Given the description of an element on the screen output the (x, y) to click on. 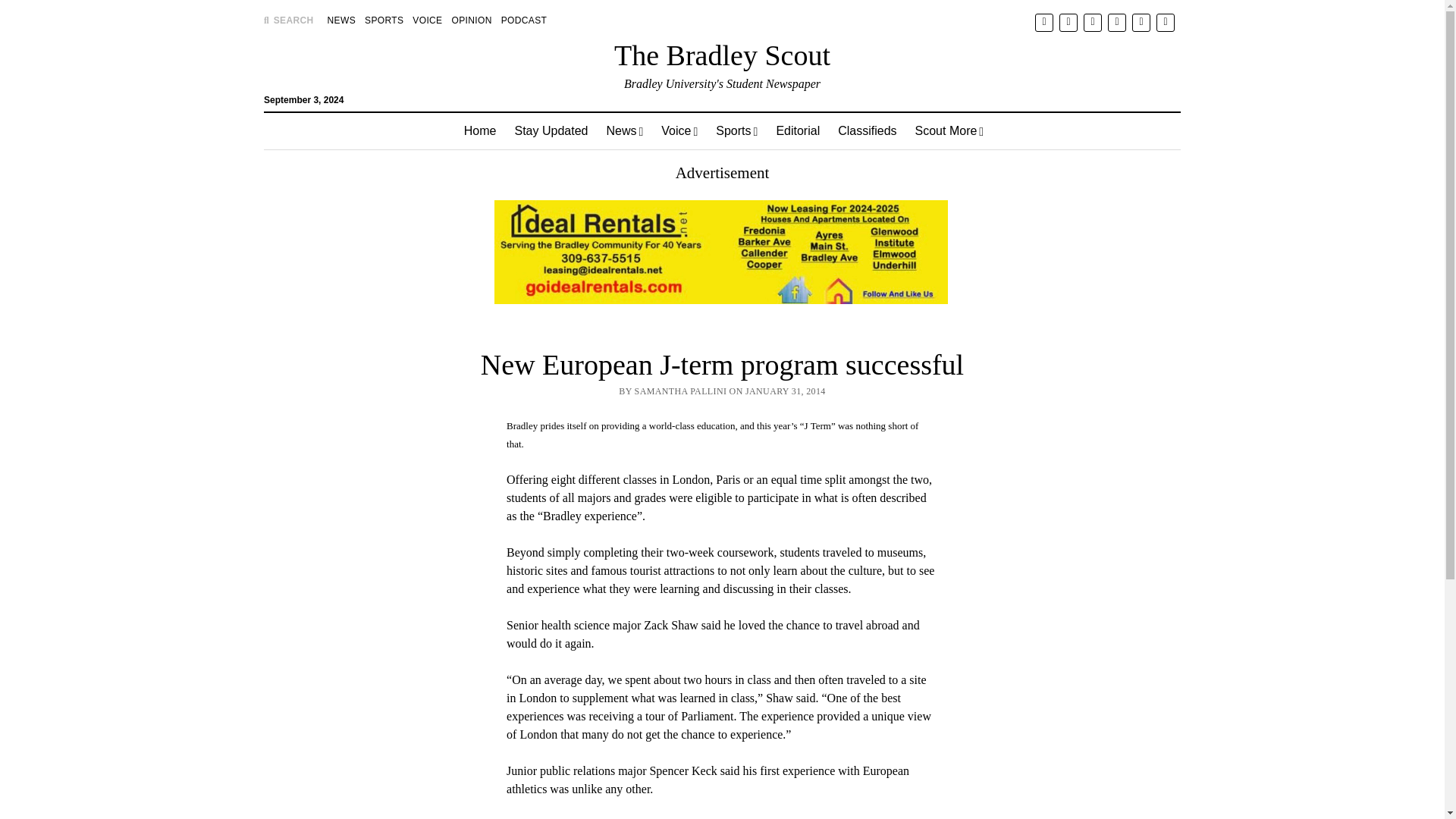
VOICE (427, 20)
Sports (736, 131)
PODCAST (523, 20)
Voice (679, 131)
NEWS (341, 20)
Editorial (797, 131)
SEARCH (288, 20)
SPORTS (384, 20)
Classifieds (866, 131)
Stay Updated (550, 131)
